Given the description of an element on the screen output the (x, y) to click on. 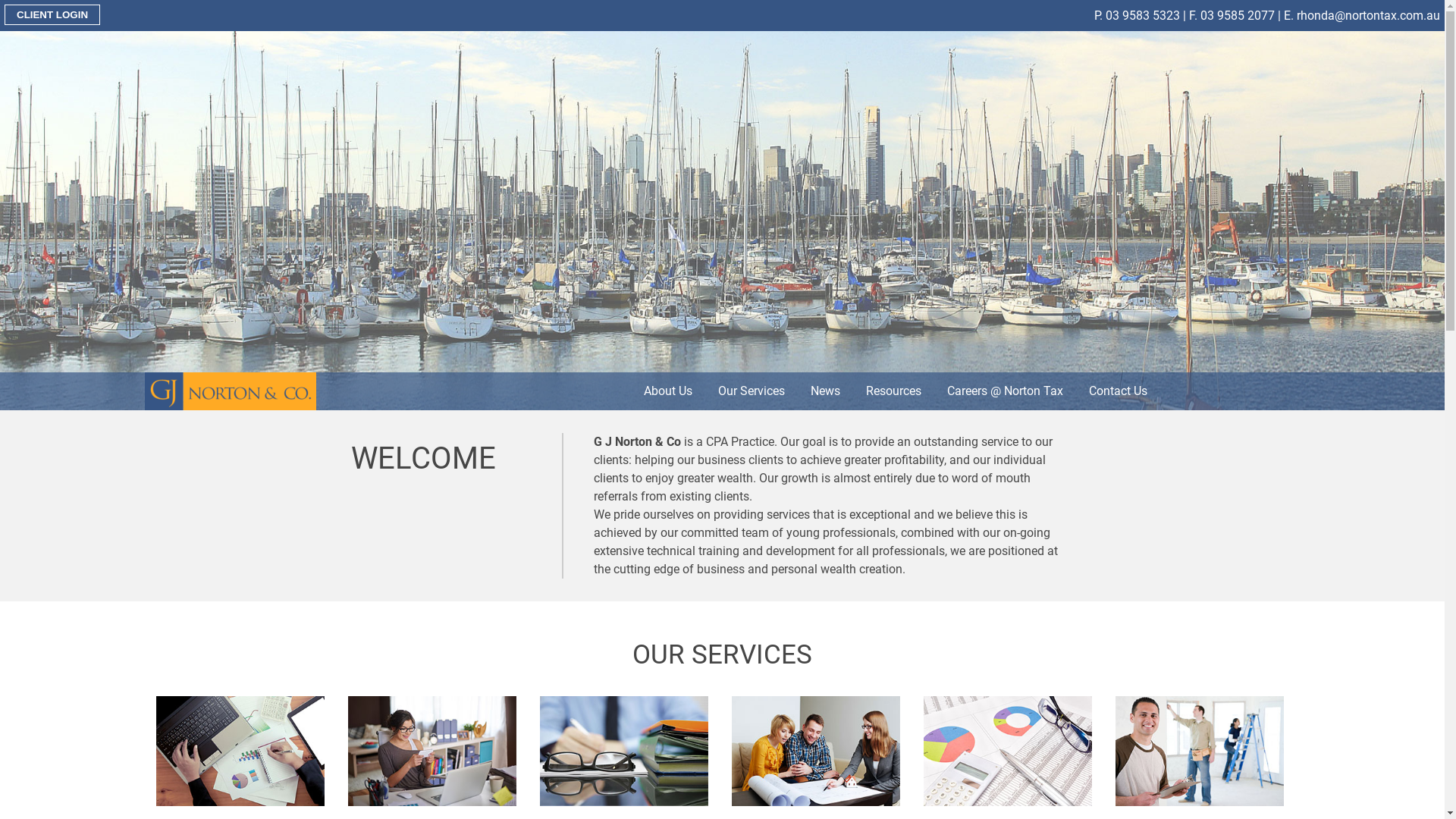
Services from GJ Norton and Tax Element type: hover (815, 751)
Contact Us Element type: text (1117, 390)
Services from GJ Norton and Tax Element type: hover (1199, 751)
Our Services Element type: text (751, 390)
News Element type: text (825, 390)
About Us Element type: text (667, 390)
Services from GJ Norton and Tax Element type: hover (624, 751)
Careers @ Norton Tax Element type: text (1005, 390)
CLIENT LOGIN Element type: text (52, 14)
Services from GJ Norton and Tax Element type: hover (1007, 751)
Services from GJ Norton and Tax Element type: hover (240, 751)
Resources Element type: text (893, 390)
gj norton and co tax victoria Element type: hover (230, 391)
rhonda@nortontax.com.au Element type: text (1368, 15)
Services from GJ Norton and Tax Element type: hover (432, 751)
